Given the description of an element on the screen output the (x, y) to click on. 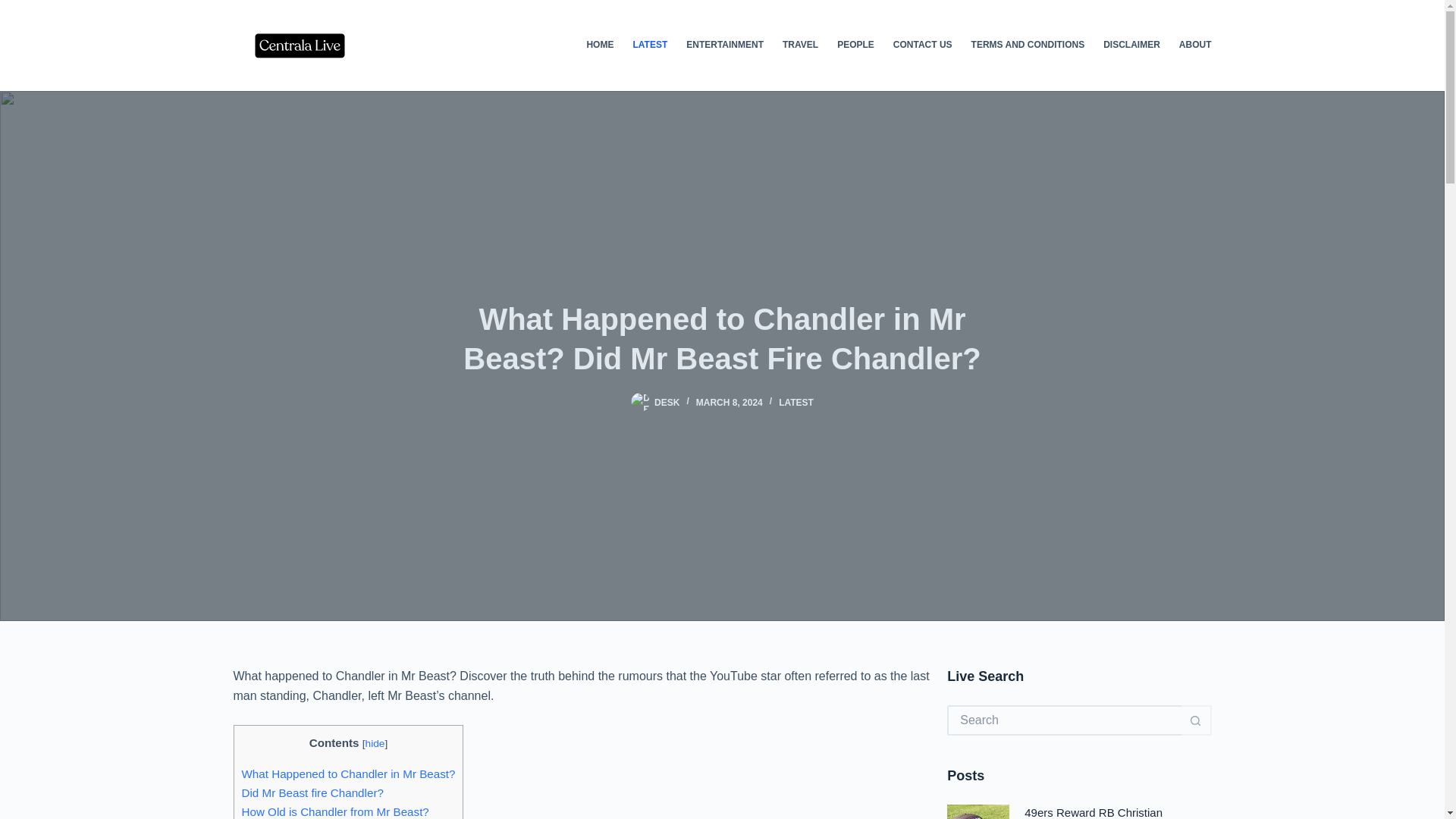
49ers Reward RB Christian McCaffrey with 2-year Extension (1106, 812)
Skip to content (15, 7)
ENTERTAINMENT (725, 45)
DESK (666, 402)
hide (375, 743)
TERMS AND CONDITIONS (1027, 45)
Search for... (1063, 720)
How Old is Chandler from Mr Beast? (334, 811)
Did Mr Beast fire Chandler? (311, 792)
Posts by Desk (666, 402)
What Happened to Chandler in Mr Beast? (347, 773)
LATEST (795, 402)
